Given the description of an element on the screen output the (x, y) to click on. 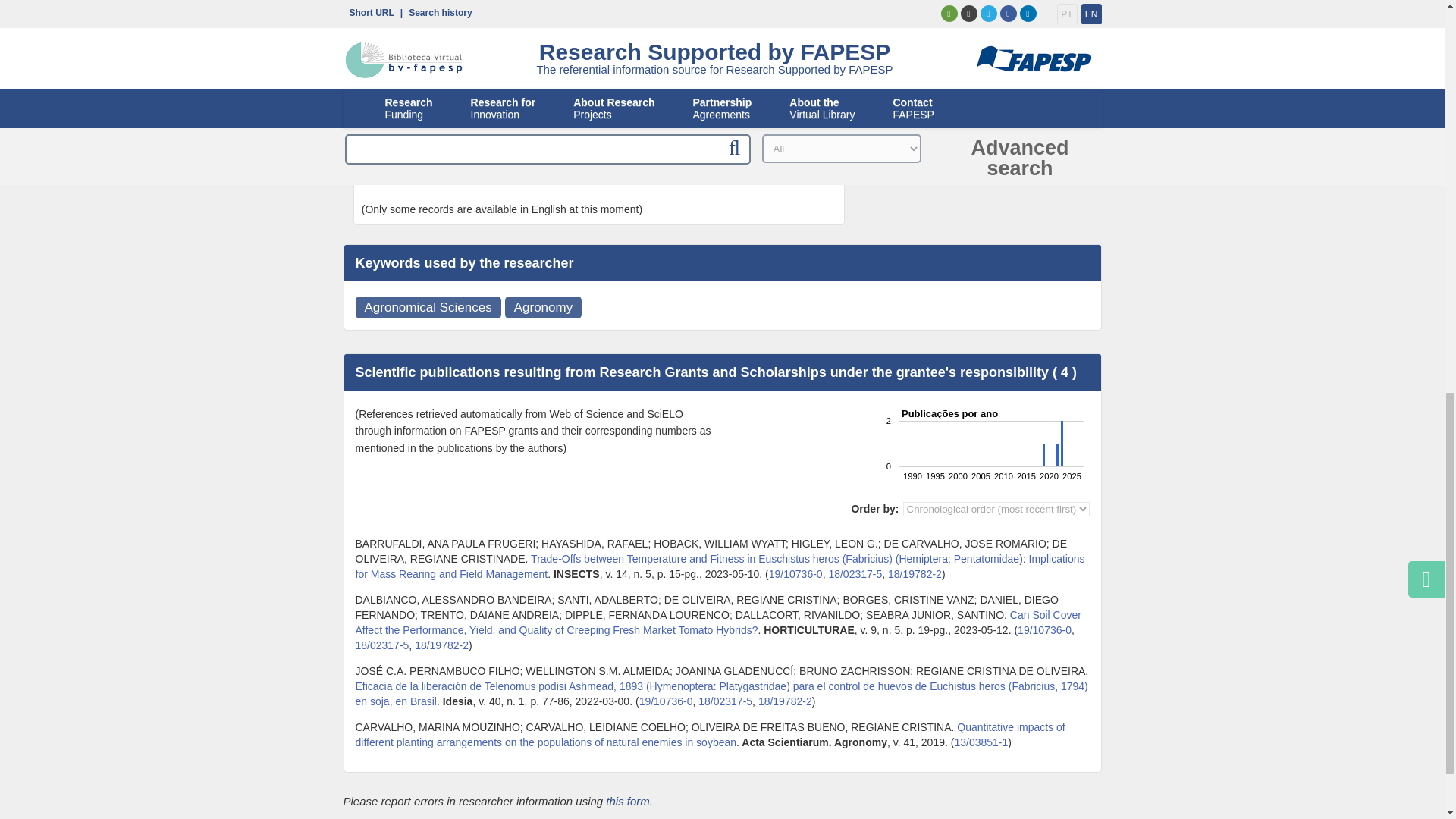
Number of FAPESP process (441, 645)
Number of FAPESP process (795, 573)
Number of FAPESP process (725, 701)
Number of FAPESP process (855, 573)
Number of FAPESP process (980, 742)
Number of FAPESP process (785, 701)
Number of FAPESP process (666, 701)
Number of FAPESP process (382, 645)
Number of FAPESP process (1044, 630)
Number of FAPESP process (915, 573)
